Given the description of an element on the screen output the (x, y) to click on. 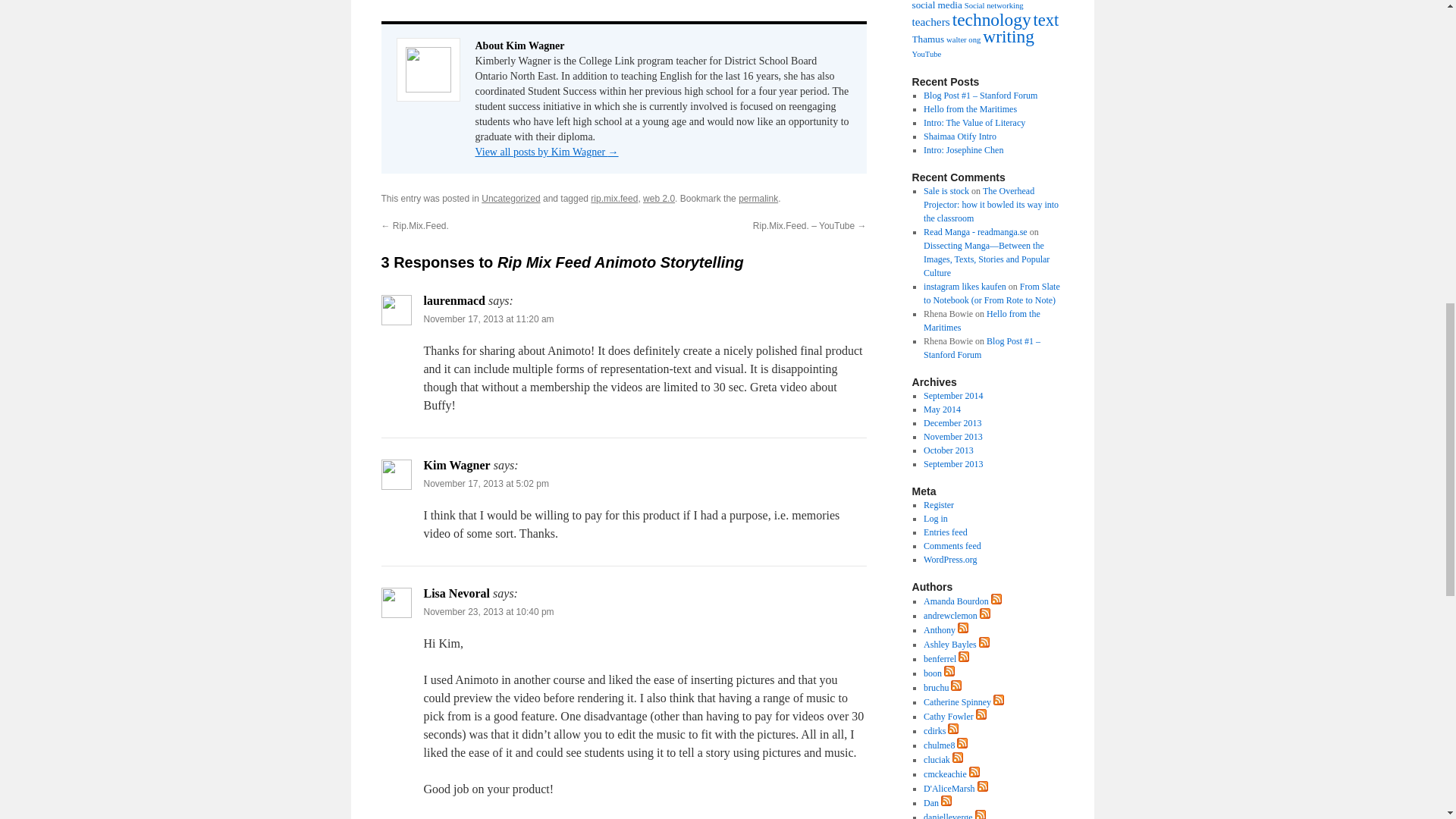
November 17, 2013 at 11:20 am (488, 318)
November 17, 2013 at 5:02 pm (485, 483)
Posts by Ashley Bayles (949, 644)
RSS feed (963, 629)
RSS feed (963, 627)
Posts by andrewclemon (949, 615)
web 2.0 (659, 198)
RSS feed (996, 601)
Permalink to Rip Mix Feed Animoto Storytelling (757, 198)
RSS feed (996, 598)
RSS feed (984, 644)
permalink (757, 198)
Posts by Anthony (939, 629)
Posts by Amanda Bourdon (955, 601)
Uncategorized (510, 198)
